Given the description of an element on the screen output the (x, y) to click on. 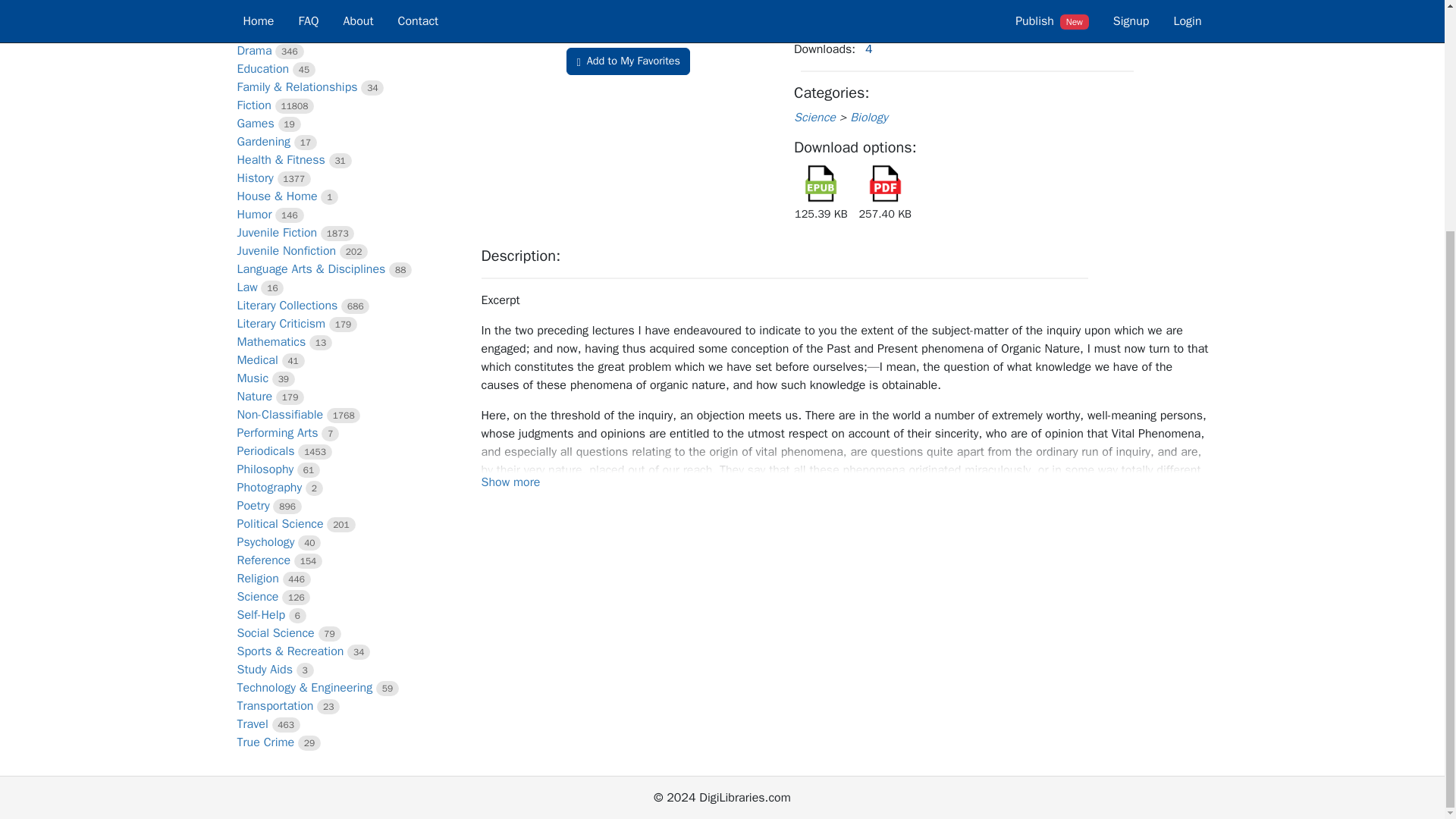
Juvenile Fiction (276, 232)
Law (246, 287)
Fiction (252, 105)
Mathematics (270, 341)
Cooking (257, 14)
Humor (252, 214)
Juvenile Nonfiction (285, 250)
Medical (256, 359)
Education (261, 68)
Literary Criticism (279, 323)
Games (254, 123)
Literary Collections (286, 305)
Gardening (262, 141)
Computers (264, 2)
History (254, 177)
